Given the description of an element on the screen output the (x, y) to click on. 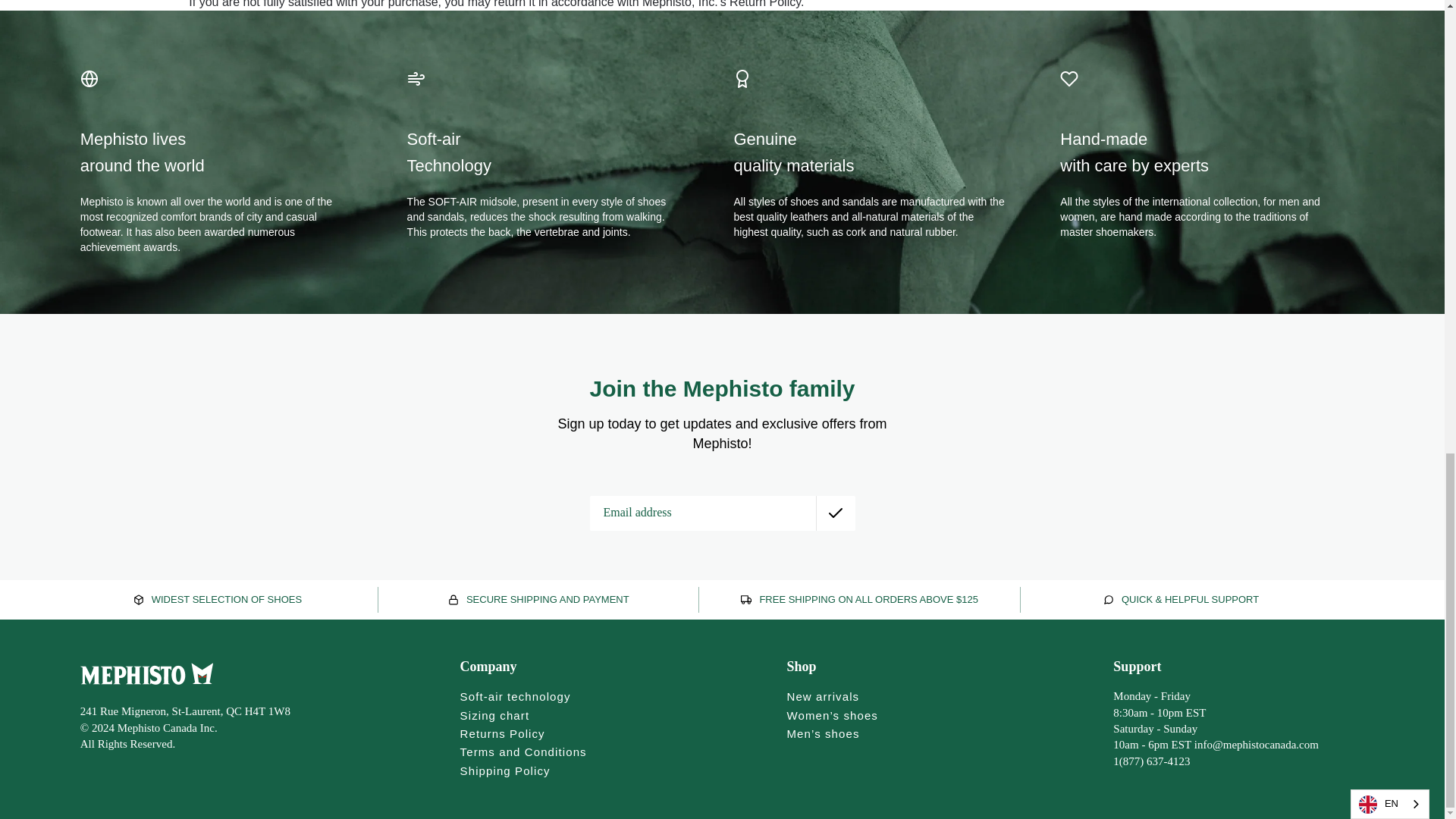
New arrivals (822, 696)
Sizing chart (494, 715)
Terms and Conditions (523, 751)
Returns Policy (502, 733)
Soft-air technology (515, 696)
Shipping Policy (505, 770)
